Given the description of an element on the screen output the (x, y) to click on. 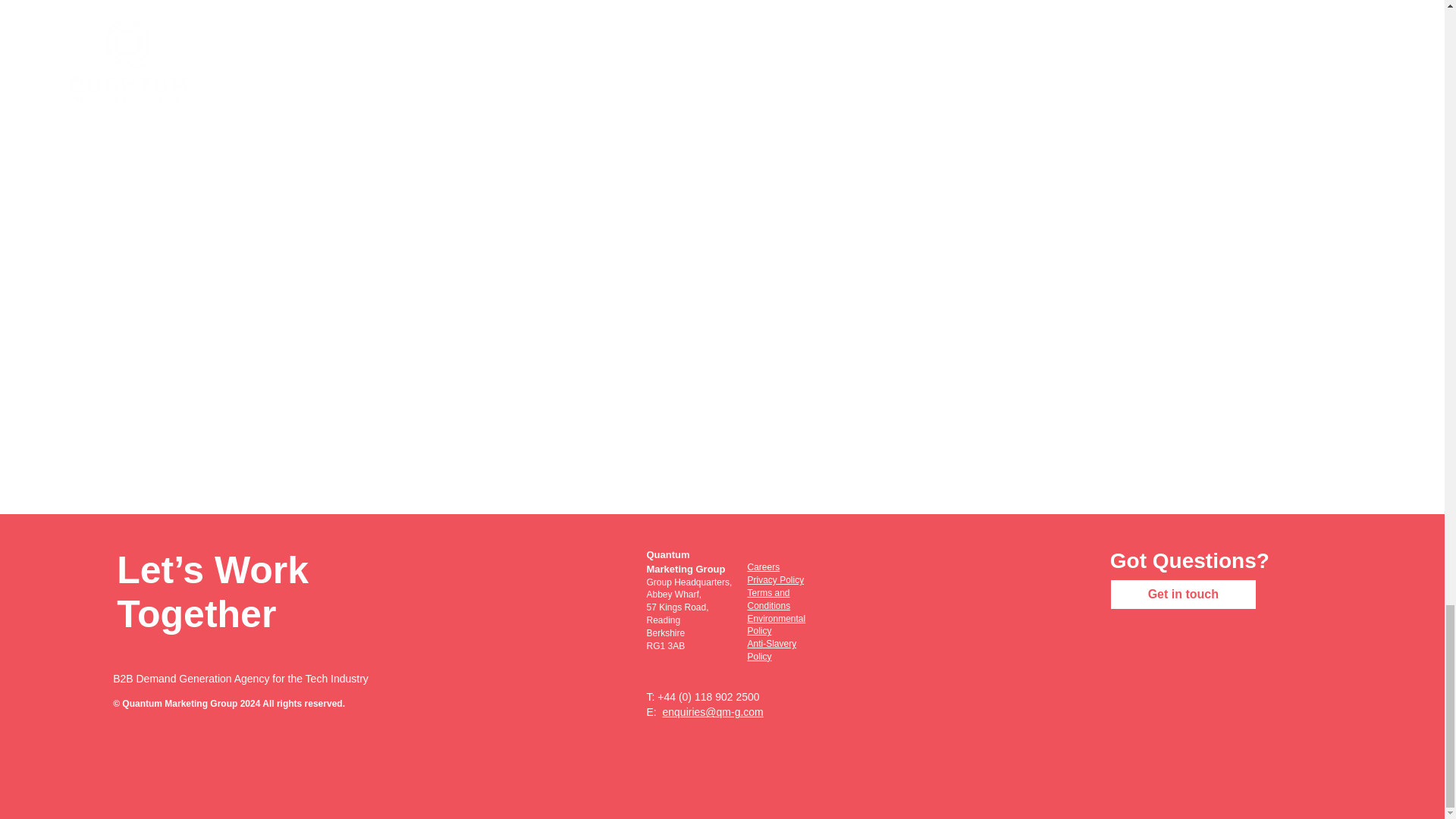
Environmental Policy (775, 625)
Anti-Slavery Policy (771, 649)
Terms and Conditions (768, 599)
Privacy Policy (774, 579)
Get in touch (1182, 594)
Careers (762, 566)
